Given the description of an element on the screen output the (x, y) to click on. 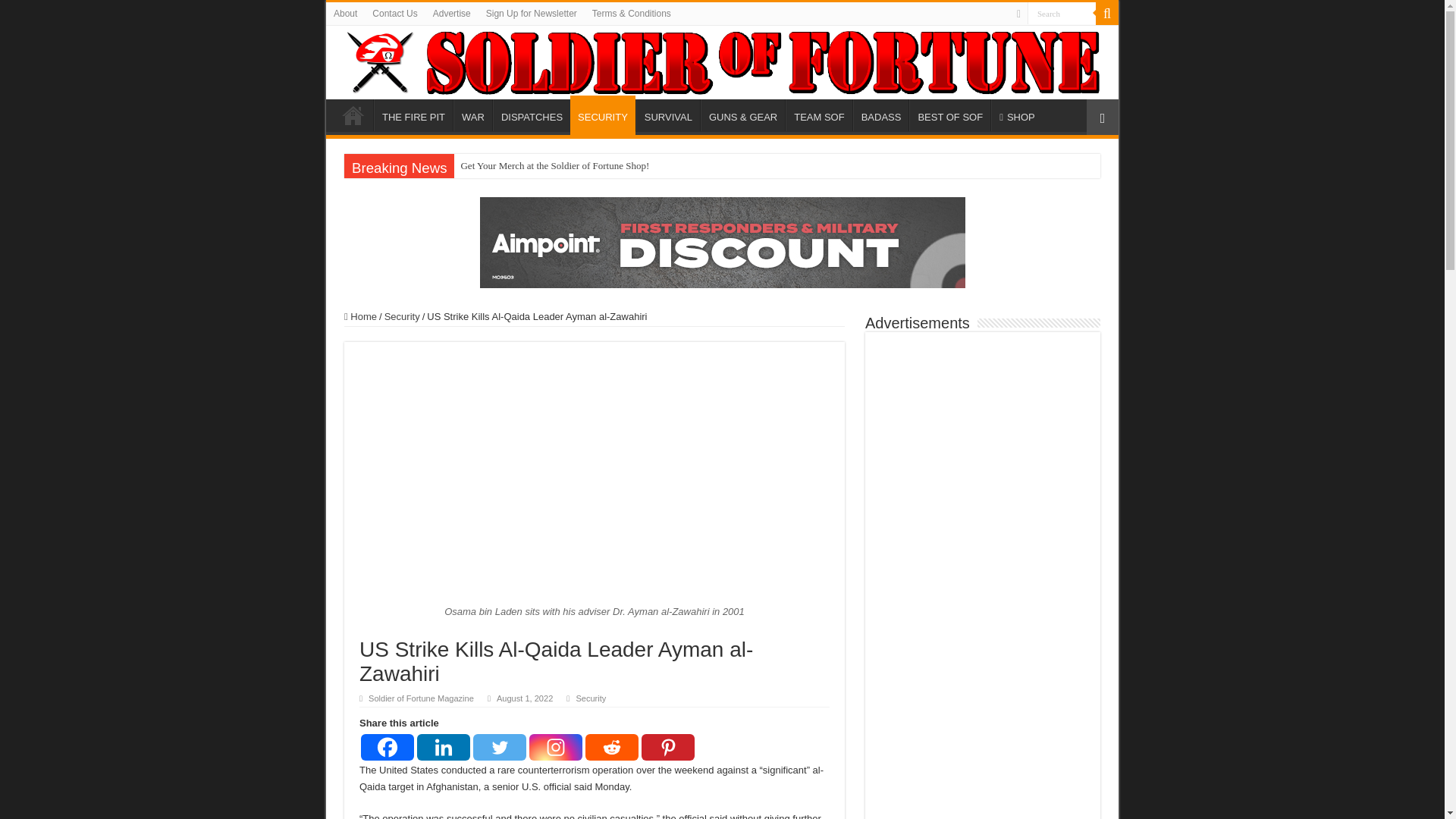
Badass of the Week (880, 115)
Get Your Merch at the Soldier of Fortune Shop! (554, 165)
THE FIRE PIT (413, 115)
Soldier of Fortune Magazine (722, 62)
Security (590, 697)
Search (1107, 13)
Home (360, 316)
Get Your Merch at the Soldier of Fortune Shop! (554, 165)
Soldier of Fortune Magazine (421, 697)
Contact Us (395, 13)
